Given the description of an element on the screen output the (x, y) to click on. 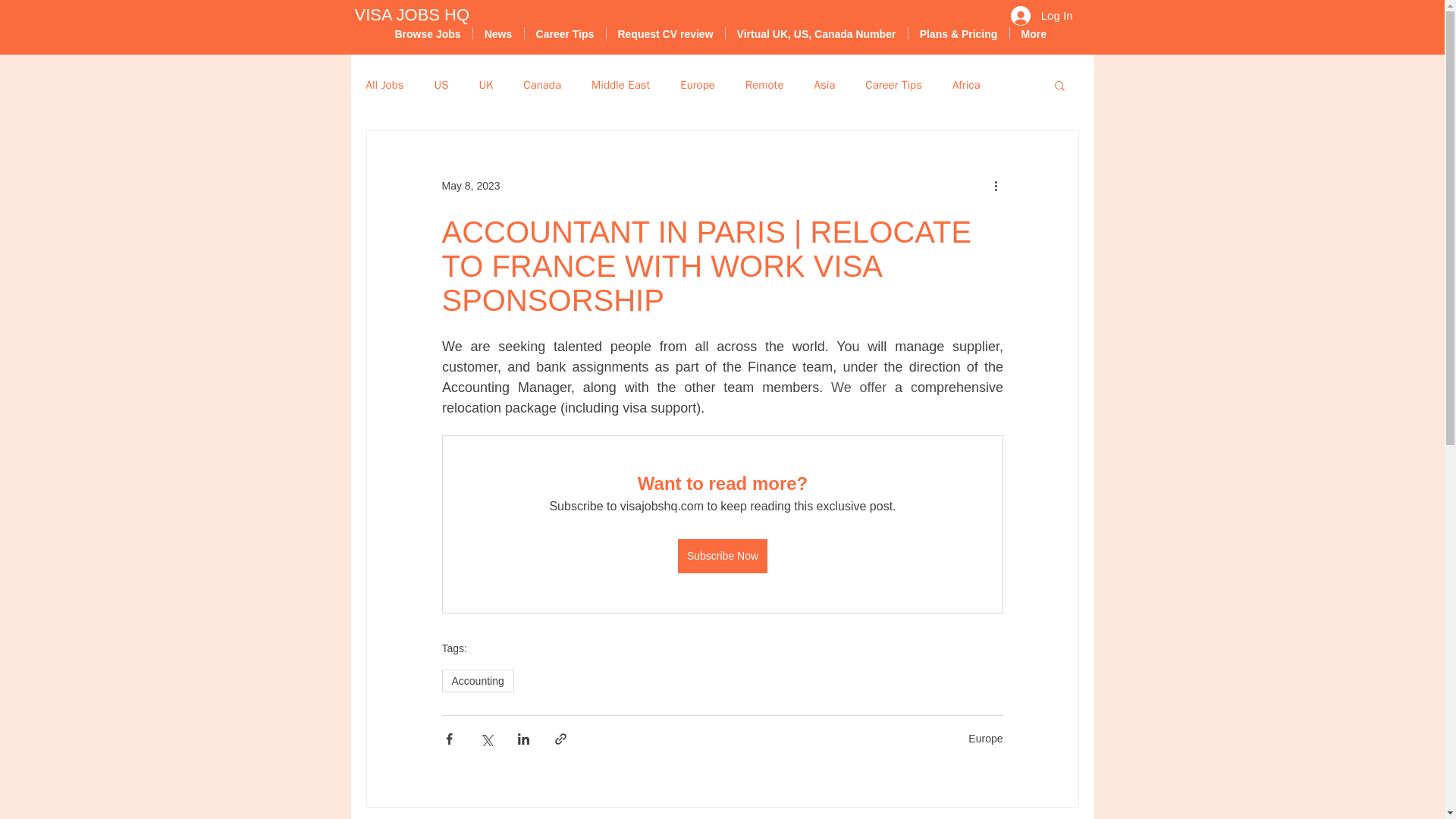
Africa (965, 83)
All Jobs (384, 83)
US (440, 83)
Middle East (620, 83)
Europe (985, 738)
UK (486, 83)
Virtual UK, US, Canada Number (816, 33)
Europe (696, 83)
Canada (541, 83)
Career Tips (564, 33)
